Given the description of an element on the screen output the (x, y) to click on. 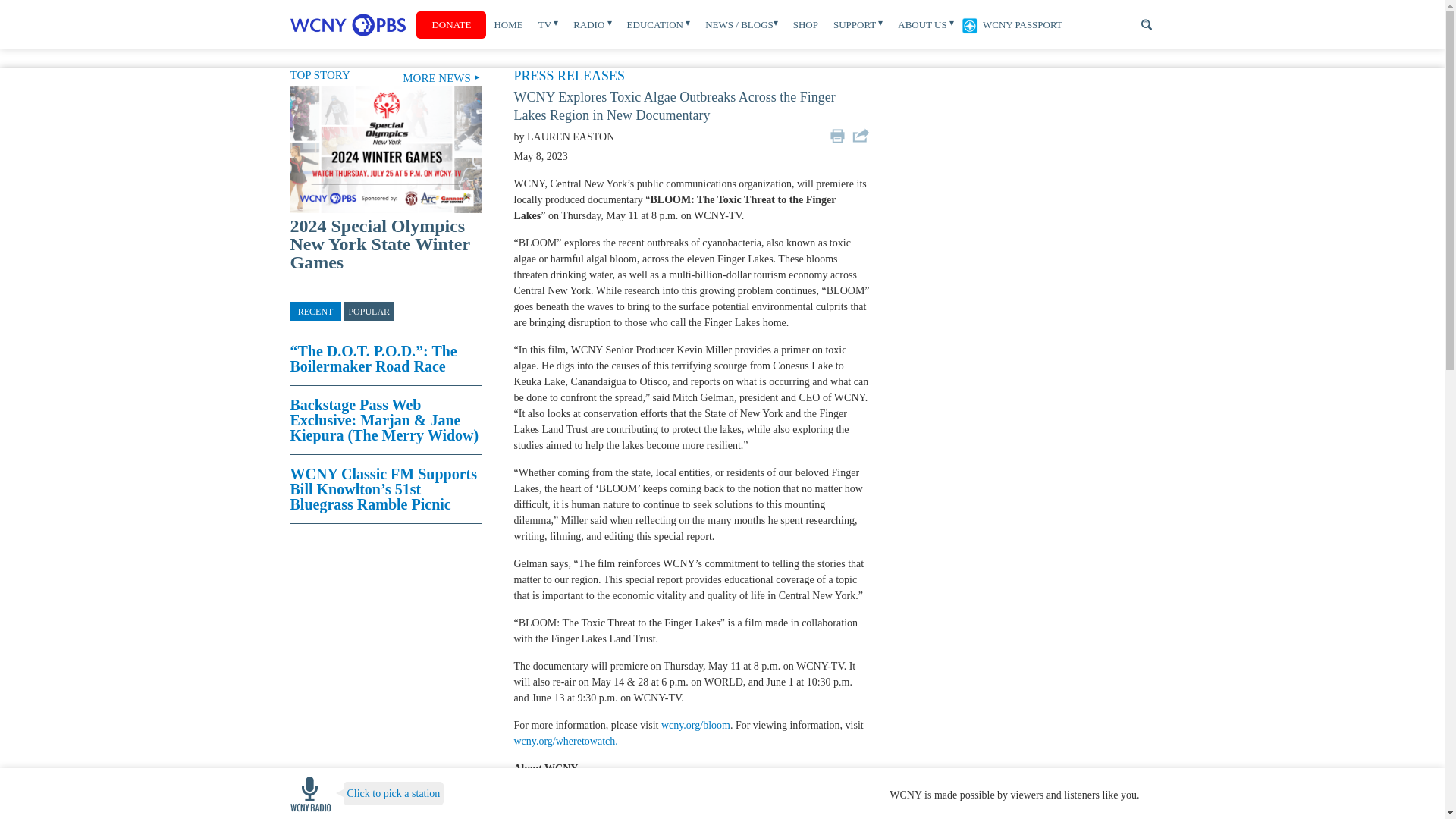
DONATE (451, 24)
HOME (507, 24)
